Given the description of an element on the screen output the (x, y) to click on. 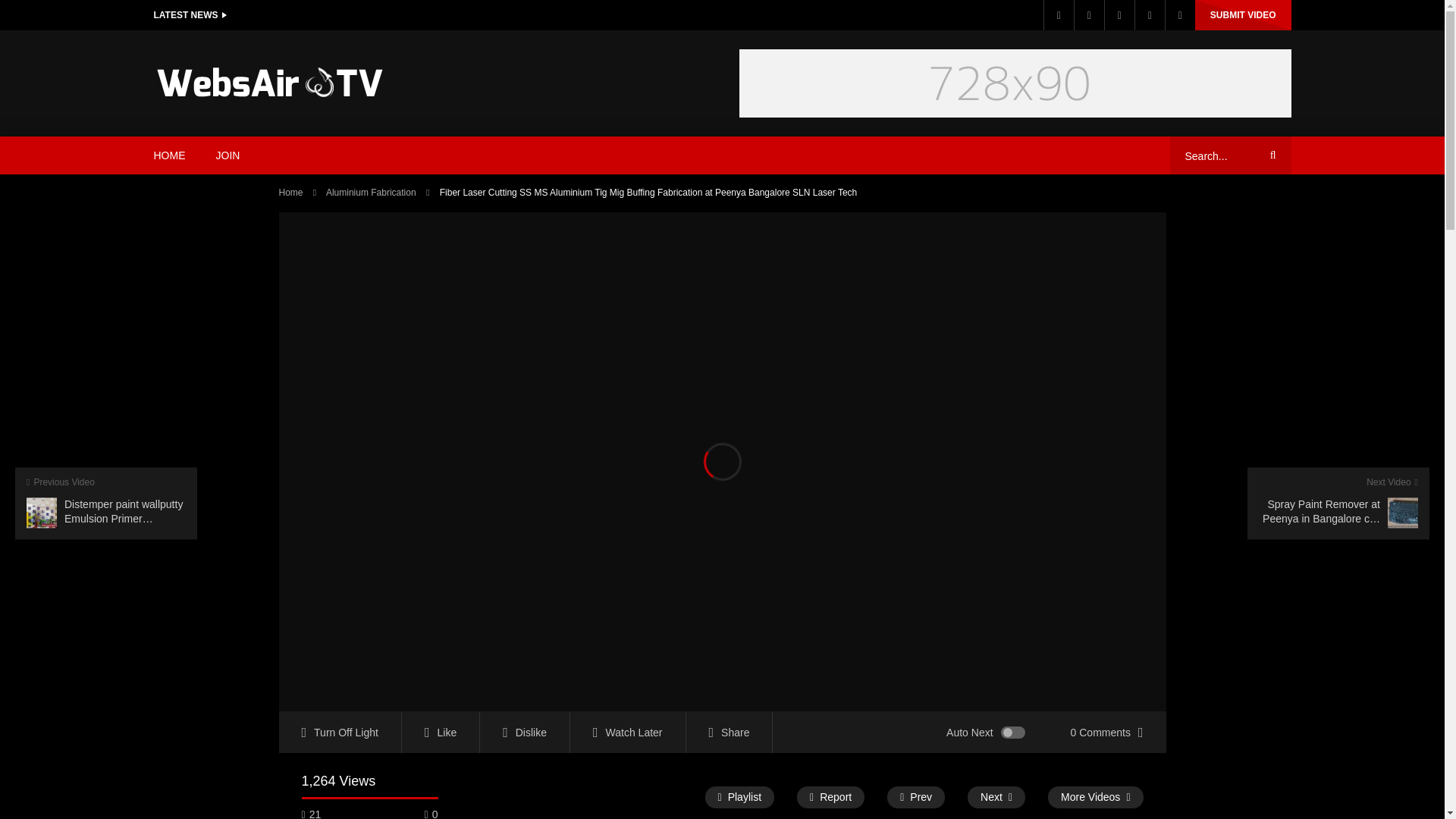
JOIN (227, 155)
Watch later (1118, 15)
SUBMIT VIDEO (1243, 15)
Login (1179, 15)
Prev (915, 797)
Next (996, 797)
Playlist (739, 797)
0 Comments (1107, 731)
